Given the description of an element on the screen output the (x, y) to click on. 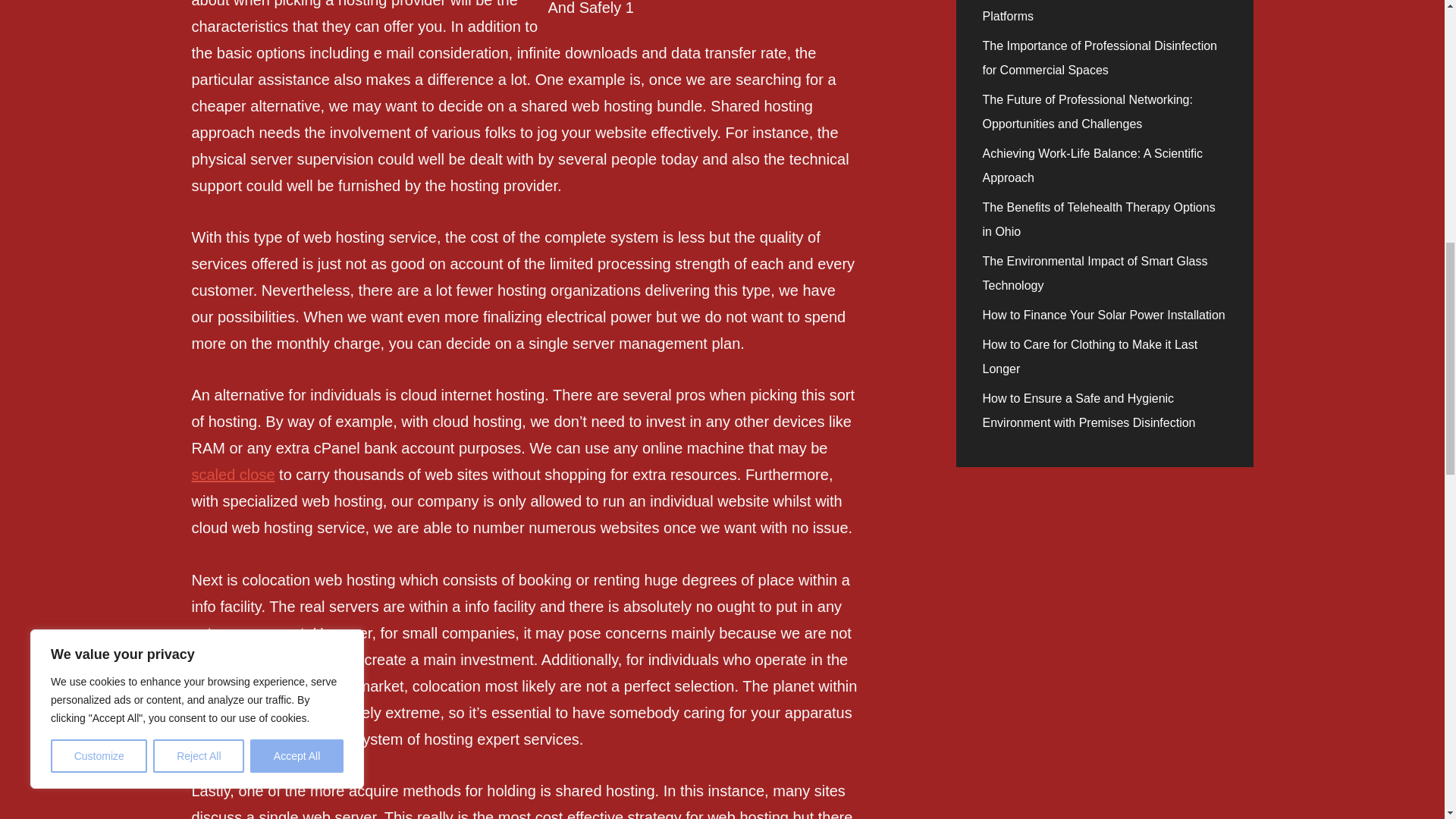
Ensuring the Legitimacy of Online Gambling Platforms (1101, 11)
scaled close (232, 474)
